Given the description of an element on the screen output the (x, y) to click on. 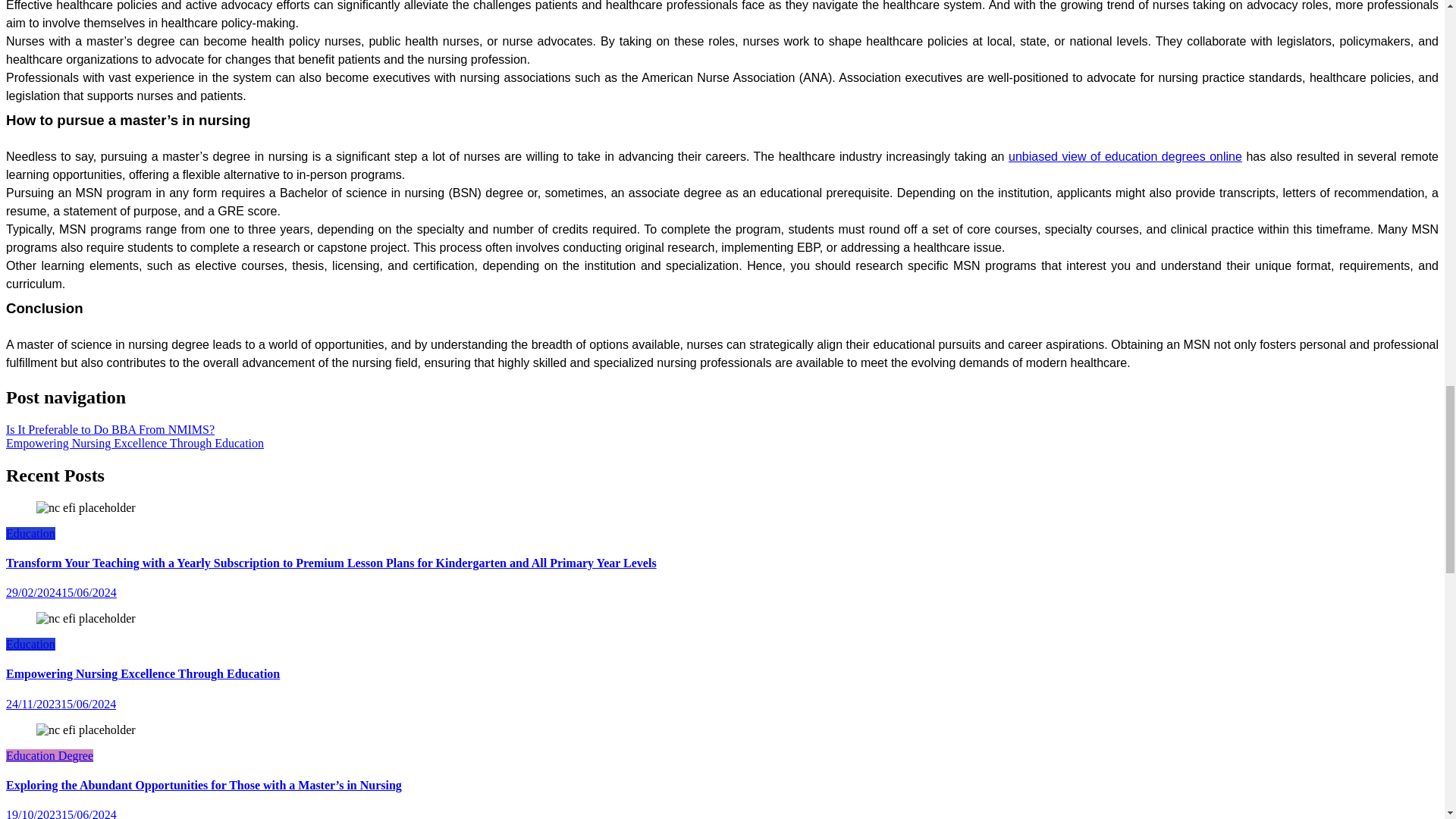
Empowering Nursing Excellence Through Education (142, 673)
Education Degree (49, 755)
Is It Preferable to Do BBA From NMIMS? (109, 429)
unbiased view of education degrees online (1125, 155)
Empowering Nursing Excellence Through Education (134, 442)
Empowering Nursing Excellence Through Education 4 (85, 618)
Education (30, 644)
